Given the description of an element on the screen output the (x, y) to click on. 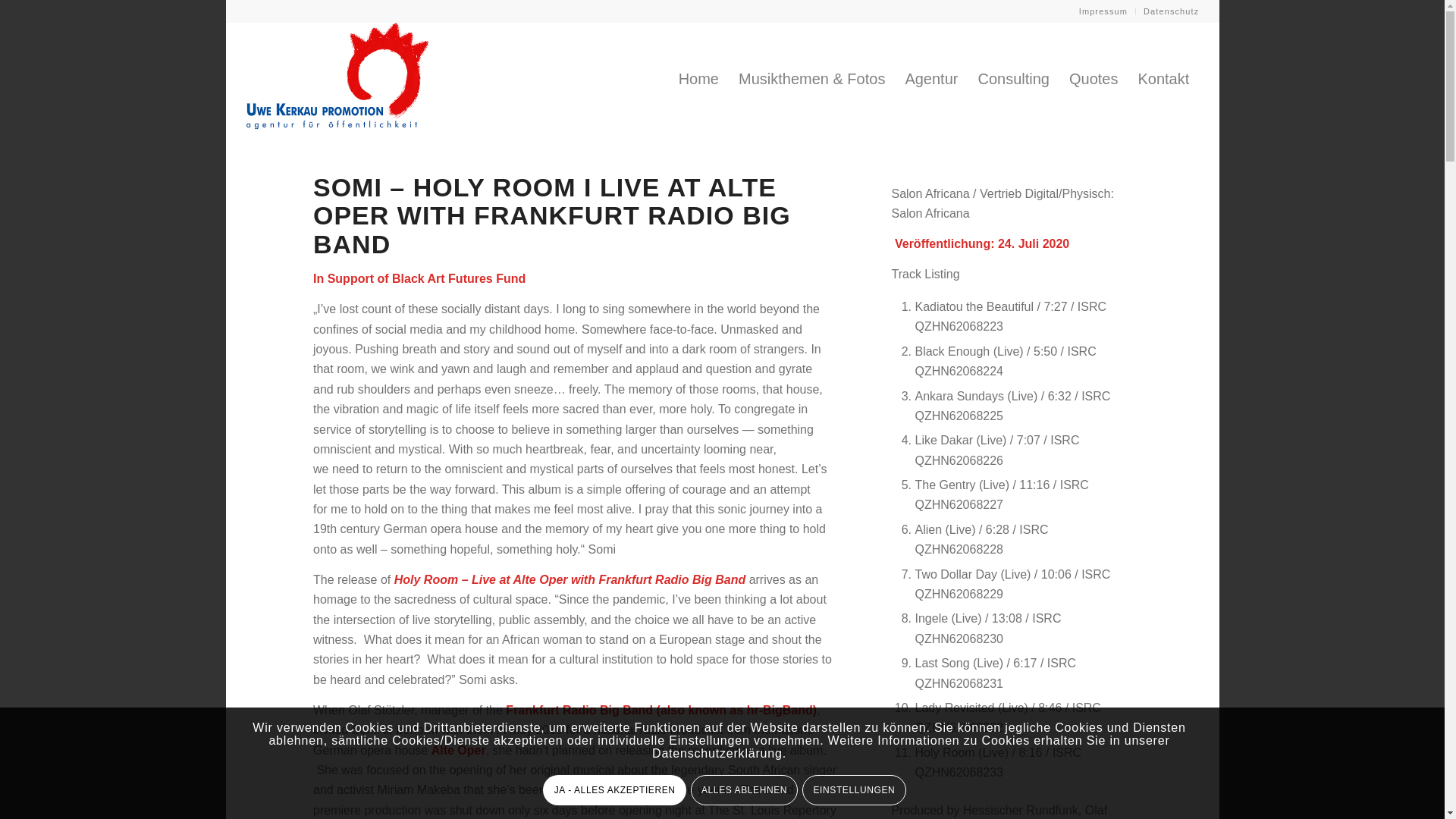
Home (698, 78)
ALLES ABLEHNEN (743, 789)
ukpromotion-logo (337, 78)
EINSTELLUNGEN (853, 789)
Agentur (931, 78)
Alle Cookies und alle Drittanbieter Dienste deaktivieren (743, 789)
JA - ALLES AKZEPTIEREN (614, 789)
